Given the description of an element on the screen output the (x, y) to click on. 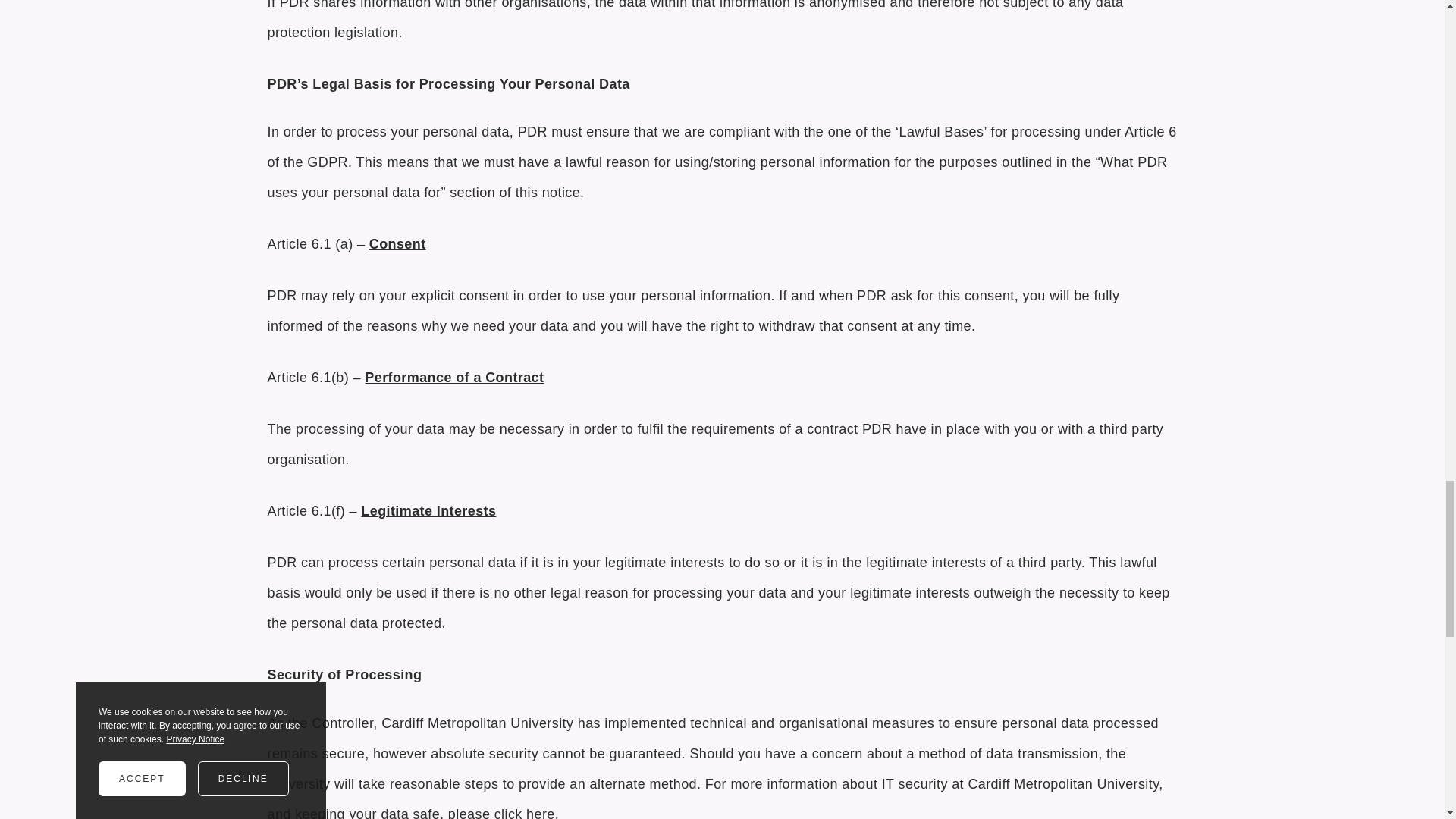
here (539, 812)
